Given the description of an element on the screen output the (x, y) to click on. 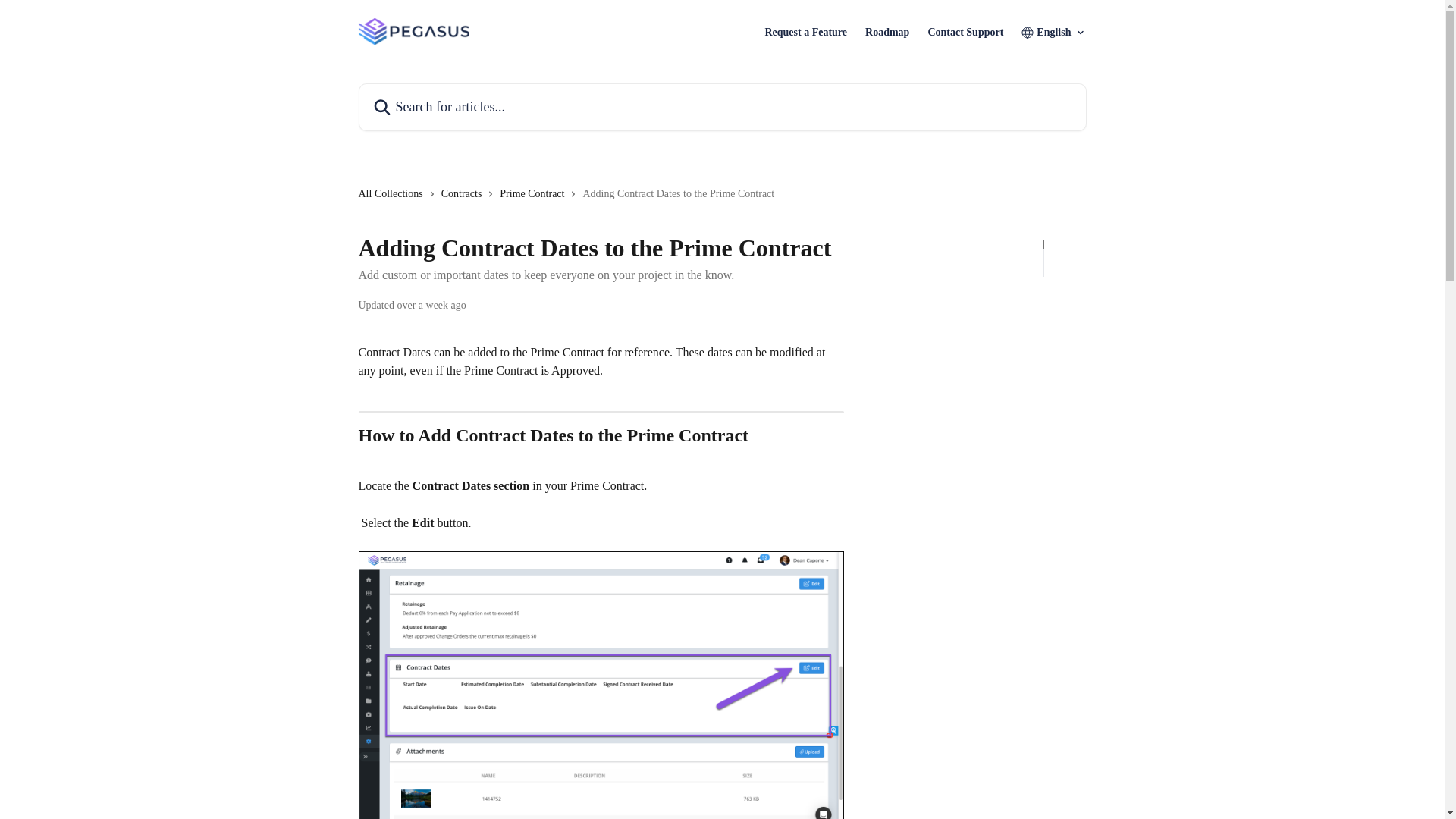
Contact Support (965, 32)
Contracts (464, 193)
Prime Contract (534, 193)
Roadmap (886, 32)
Request a Feature (805, 32)
All Collections (393, 193)
